Given the description of an element on the screen output the (x, y) to click on. 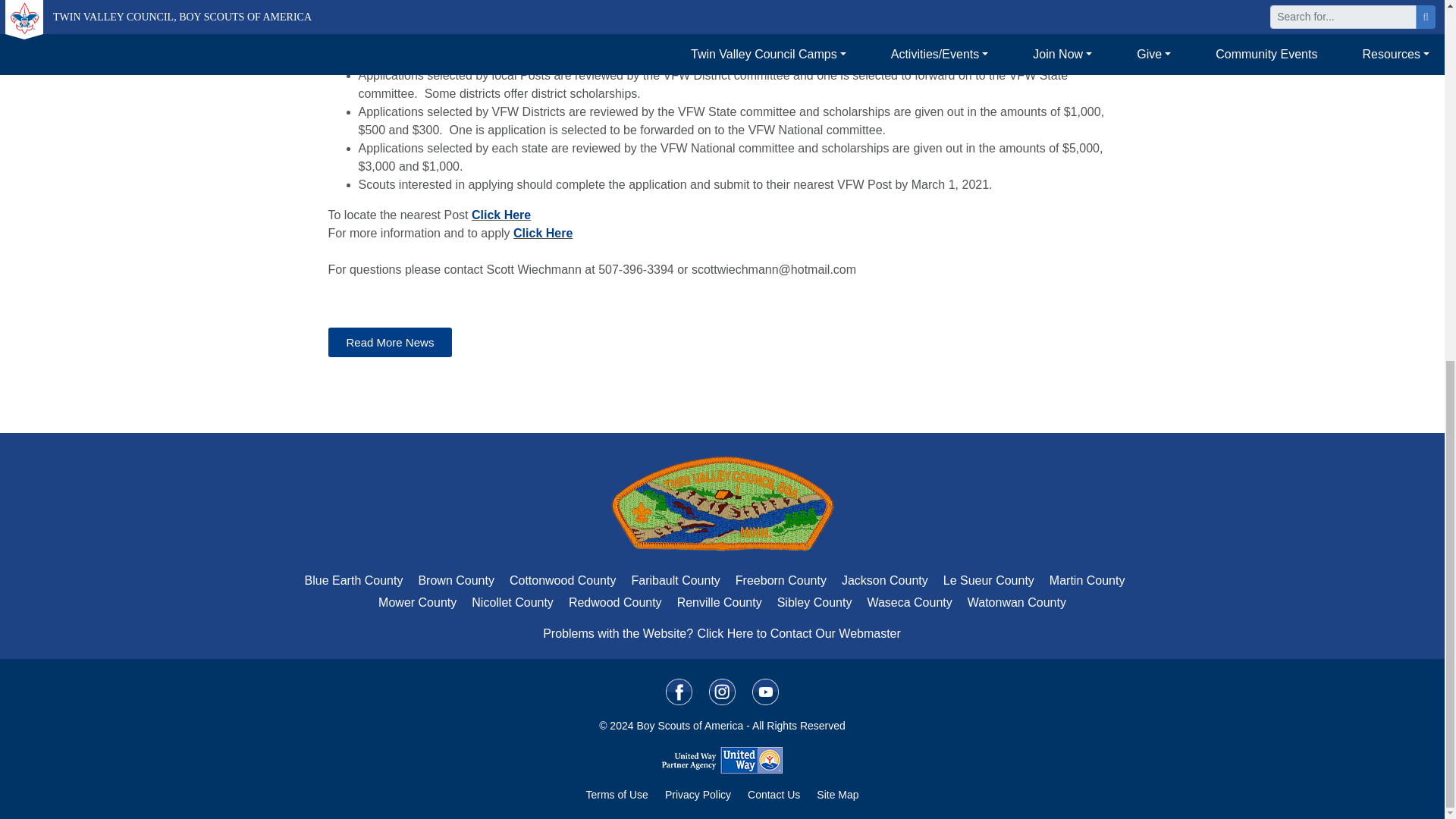
Click Here to Contact Our Webmaster (799, 633)
Click Here (542, 232)
Read More News (389, 342)
Click Here (501, 214)
